Given the description of an element on the screen output the (x, y) to click on. 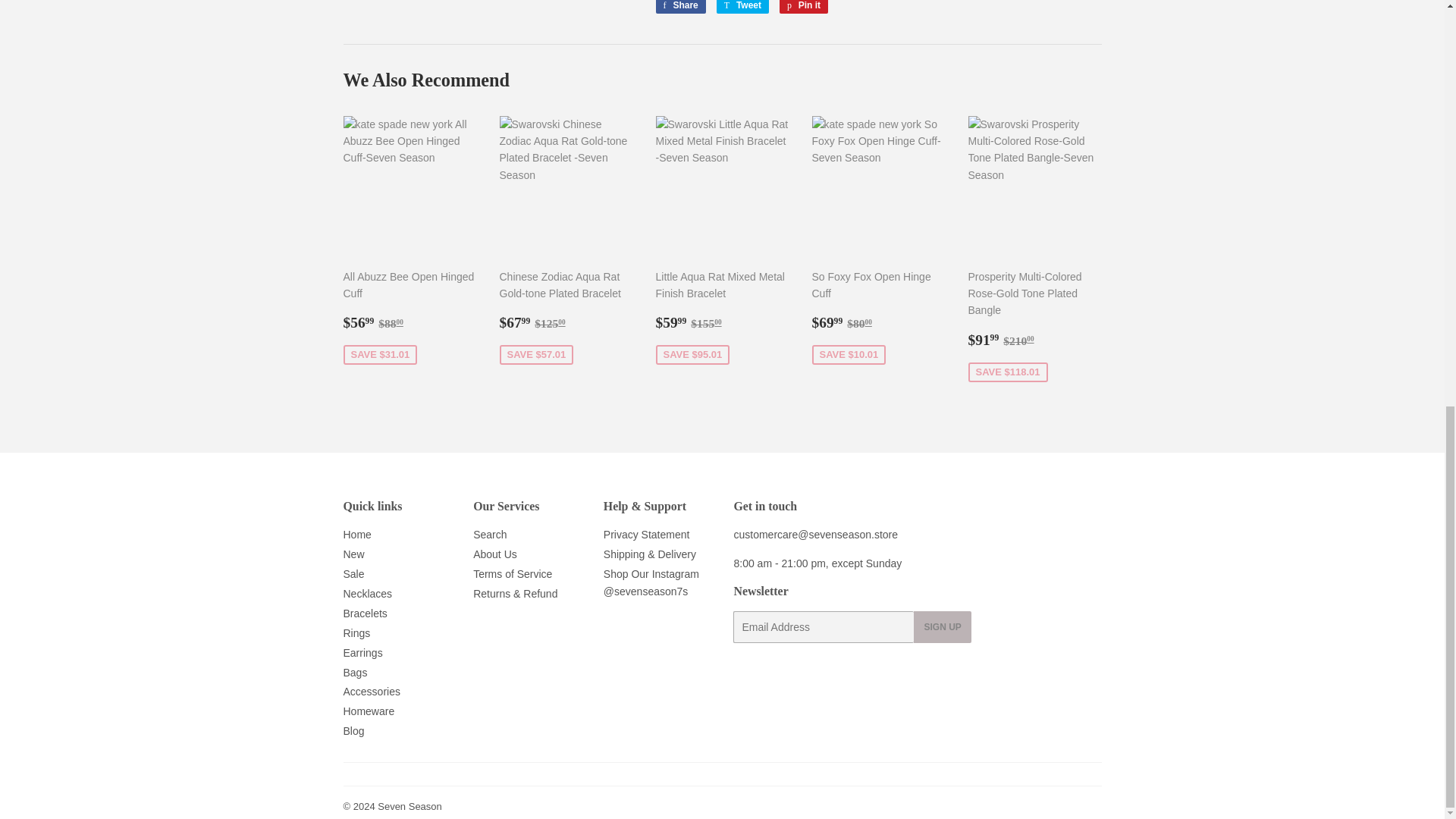
Tweet on Twitter (742, 6)
Share on Facebook (679, 6)
Pin on Pinterest (803, 6)
